Given the description of an element on the screen output the (x, y) to click on. 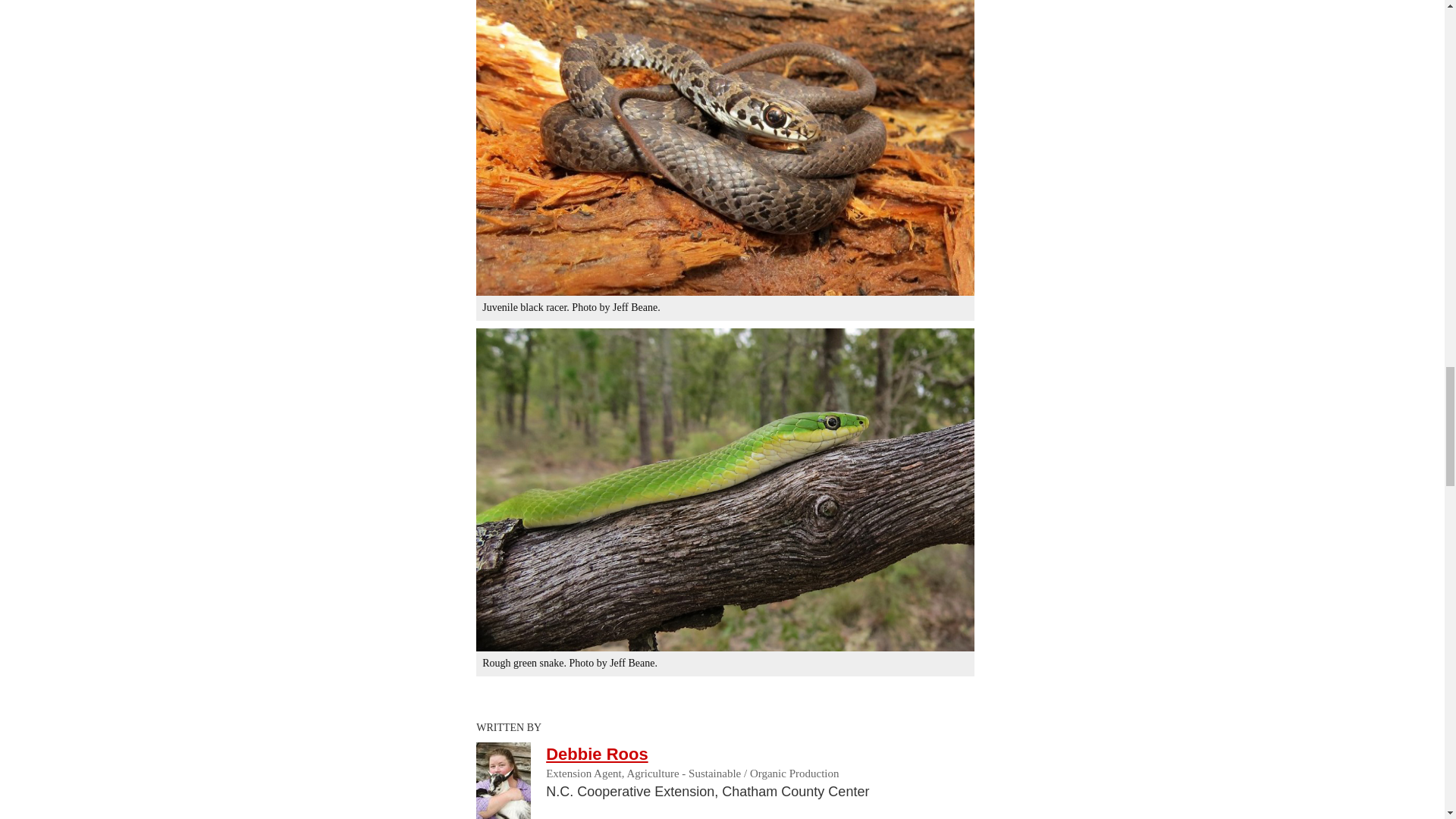
Debbie Roos (596, 753)
